Given the description of an element on the screen output the (x, y) to click on. 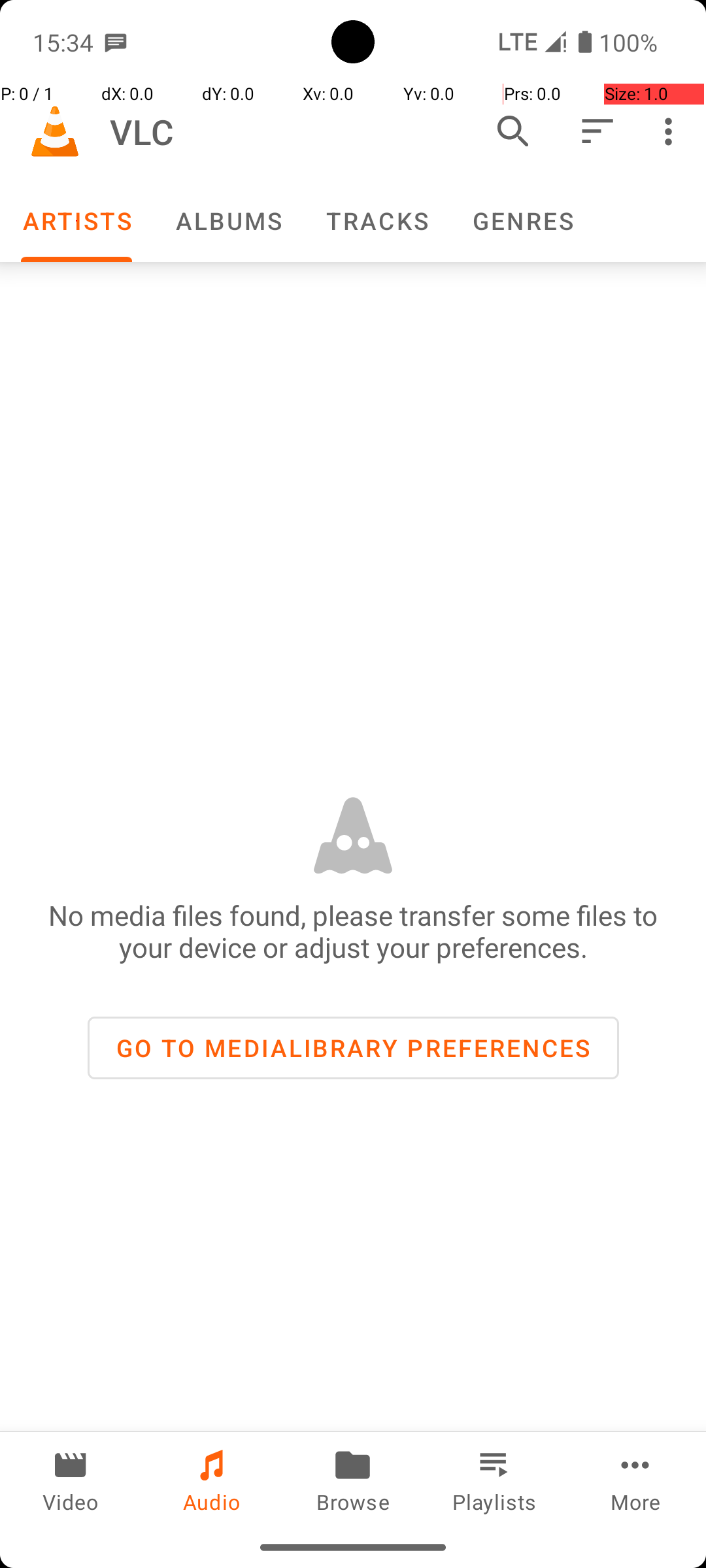
No media files found, please transfer some files to your device or adjust your preferences. Element type: android.widget.TextView (352, 930)
GO TO MEDIALIBRARY PREFERENCES Element type: android.widget.Button (353, 1047)
